Given the description of an element on the screen output the (x, y) to click on. 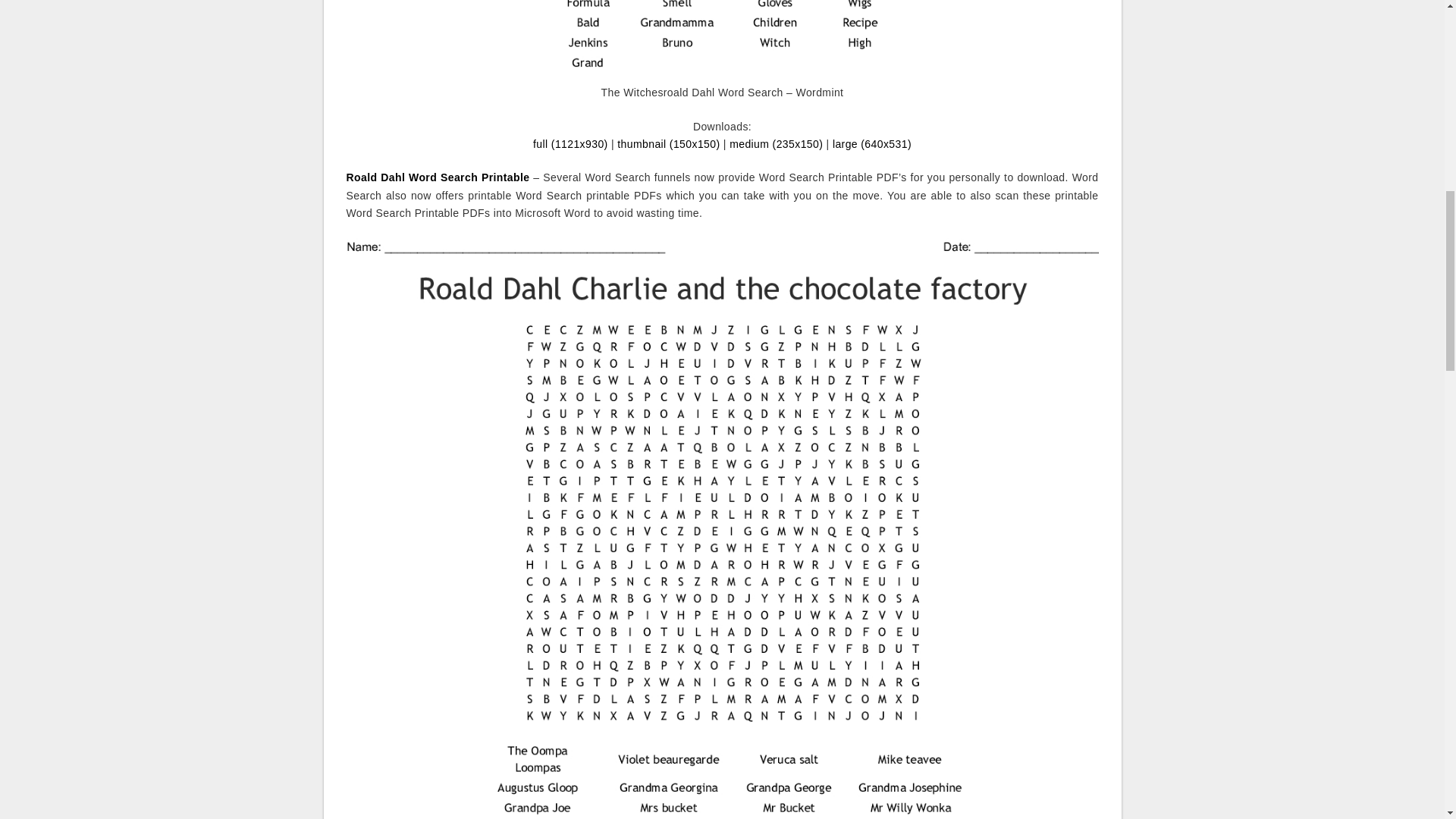
Roald Dahl Word Search Printable (437, 177)
